Given the description of an element on the screen output the (x, y) to click on. 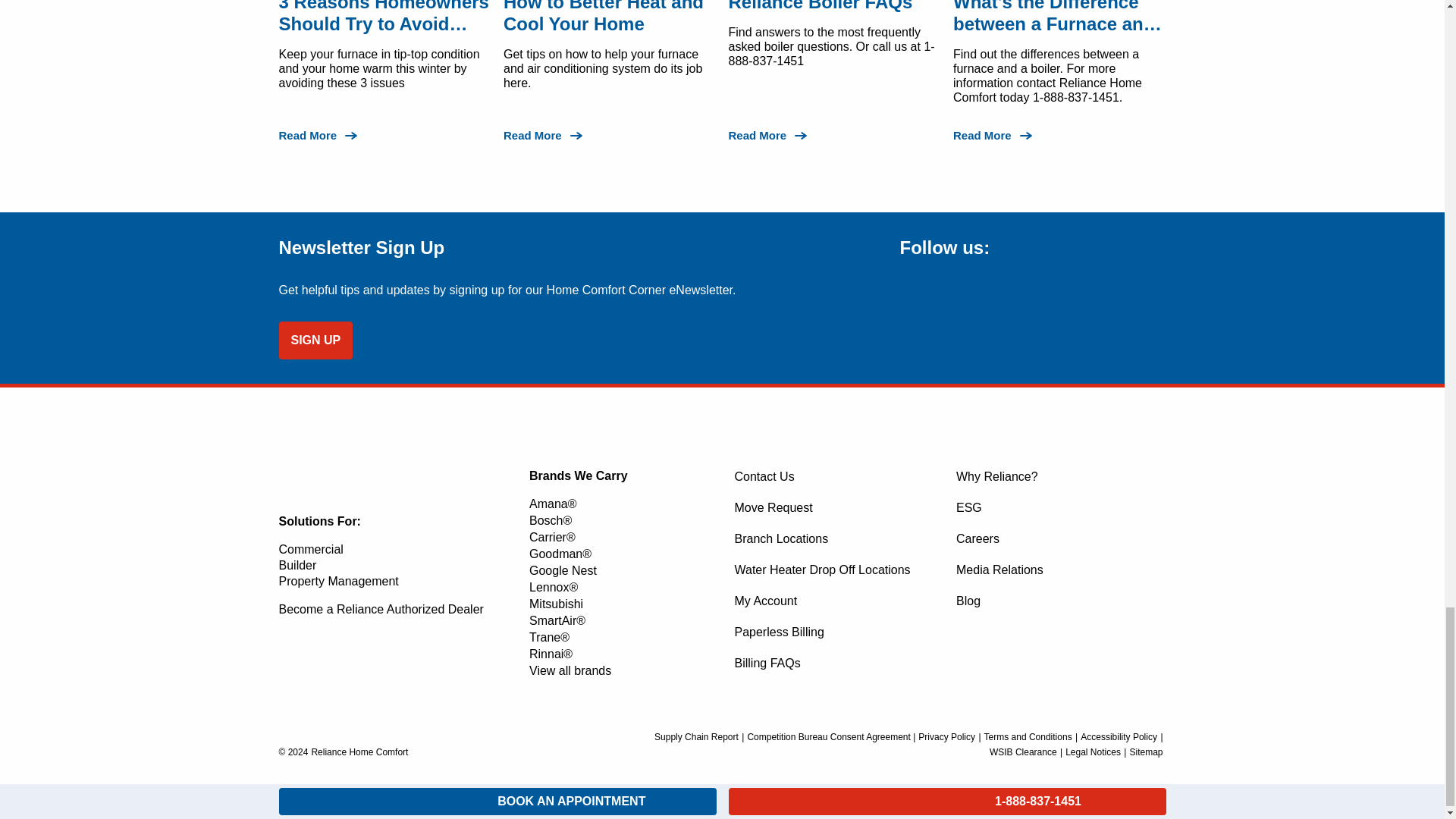
Commercial (311, 549)
Property Management (338, 581)
Become a Reliance Authorized Dealer (381, 608)
Builder (298, 564)
